Given the description of an element on the screen output the (x, y) to click on. 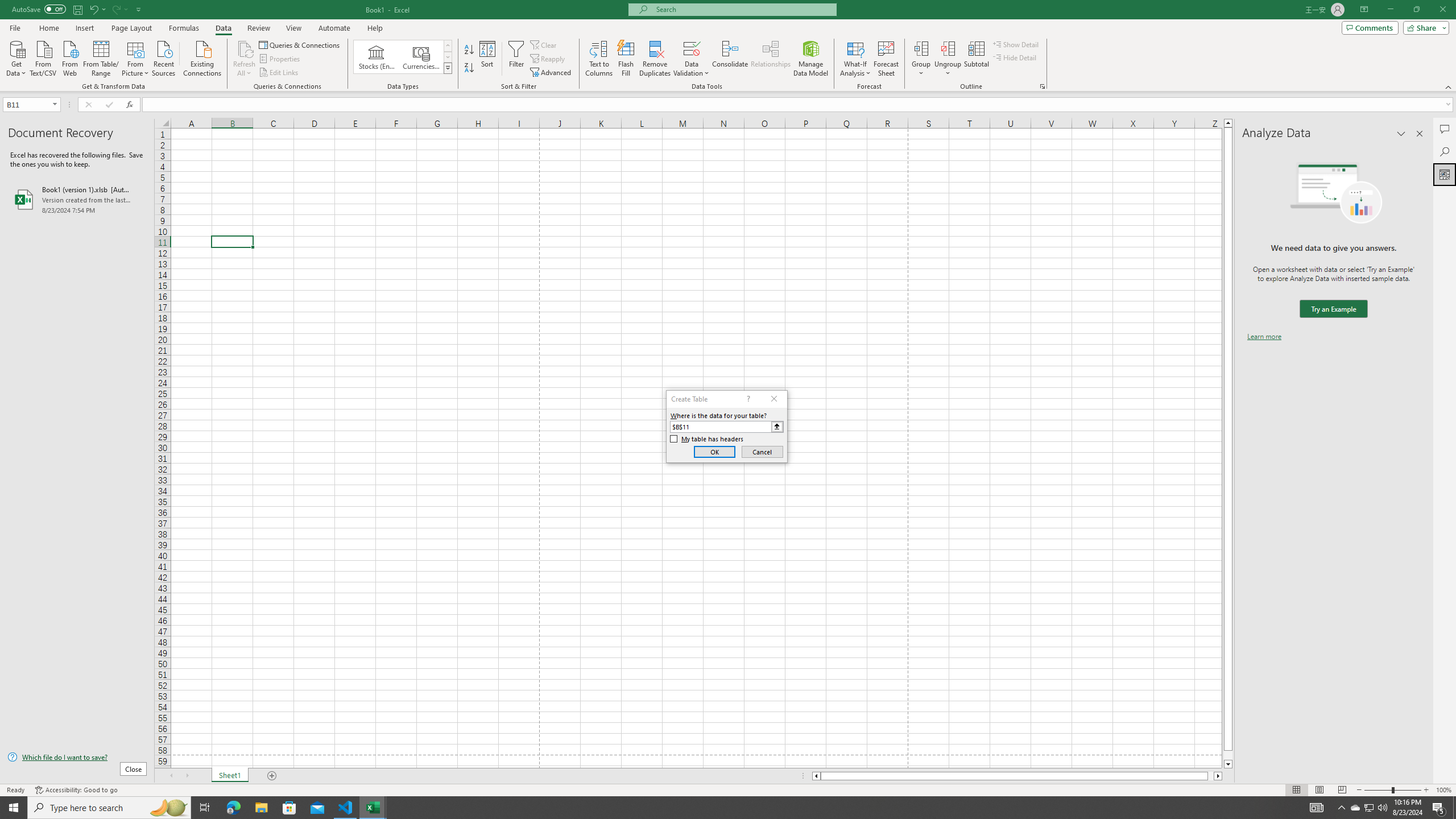
Comments (1444, 128)
Quick Access Toolbar (77, 9)
Existing Connections (202, 57)
Restore Down (1416, 9)
Sort... (487, 58)
Zoom (1392, 790)
Minimize (1390, 9)
Manage Data Model (810, 58)
Properties (280, 58)
Customize Quick Access Toolbar (139, 9)
Insert (83, 28)
View (293, 28)
